Given the description of an element on the screen output the (x, y) to click on. 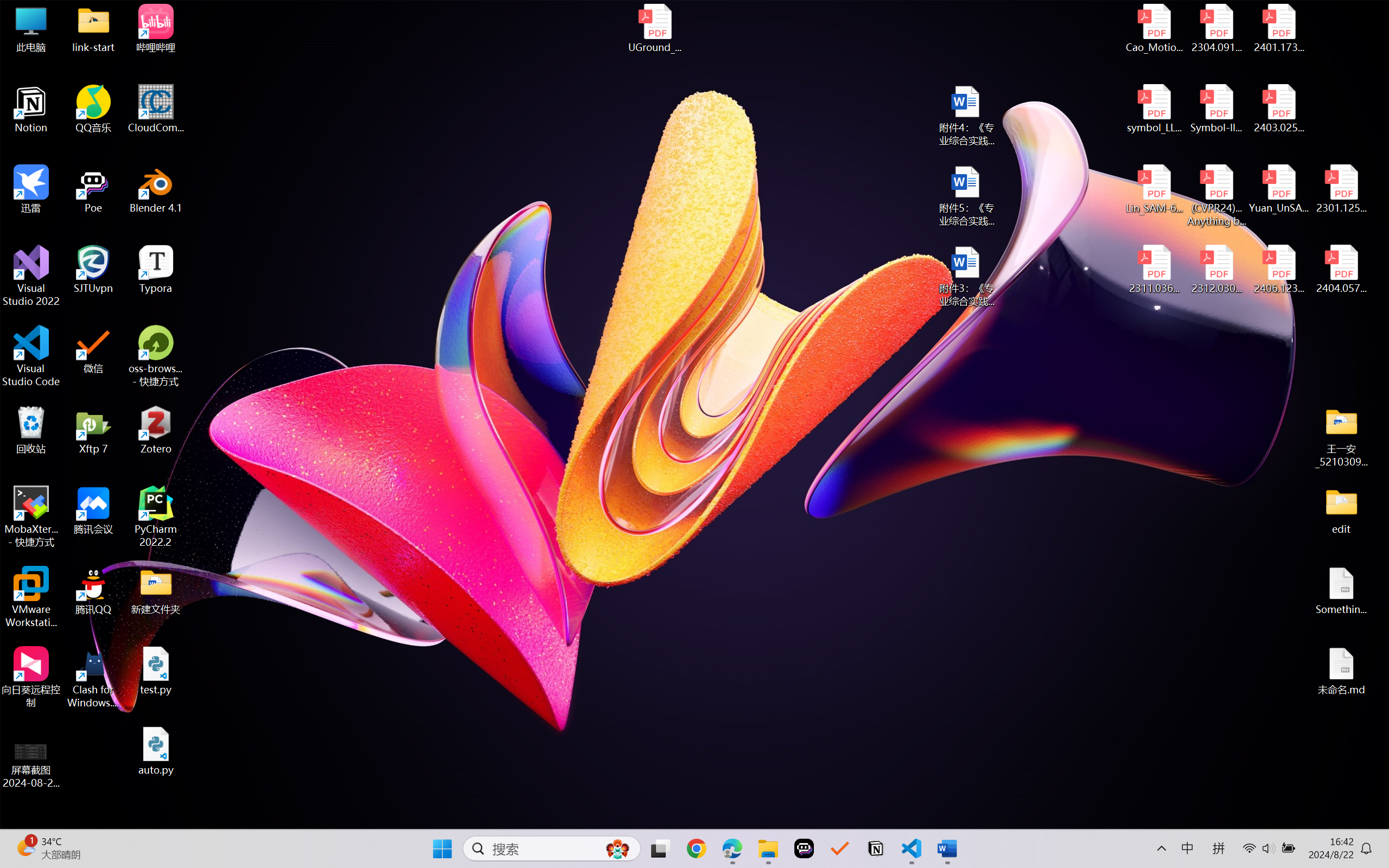
Google Chrome (696, 848)
Xftp 7 (93, 430)
edit (1340, 510)
